Given the description of an element on the screen output the (x, y) to click on. 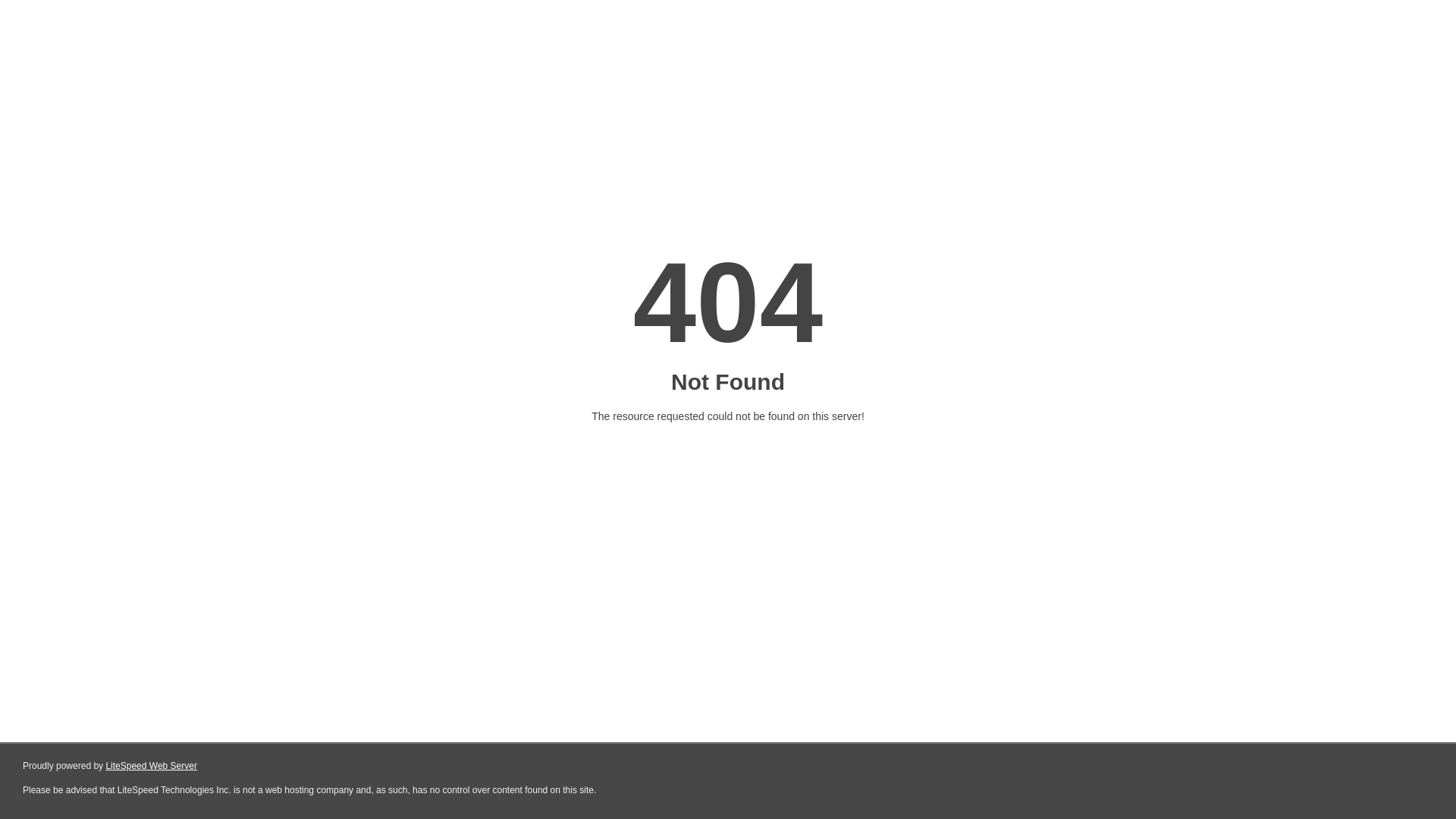
LiteSpeed Web Server Element type: text (151, 765)
